Given the description of an element on the screen output the (x, y) to click on. 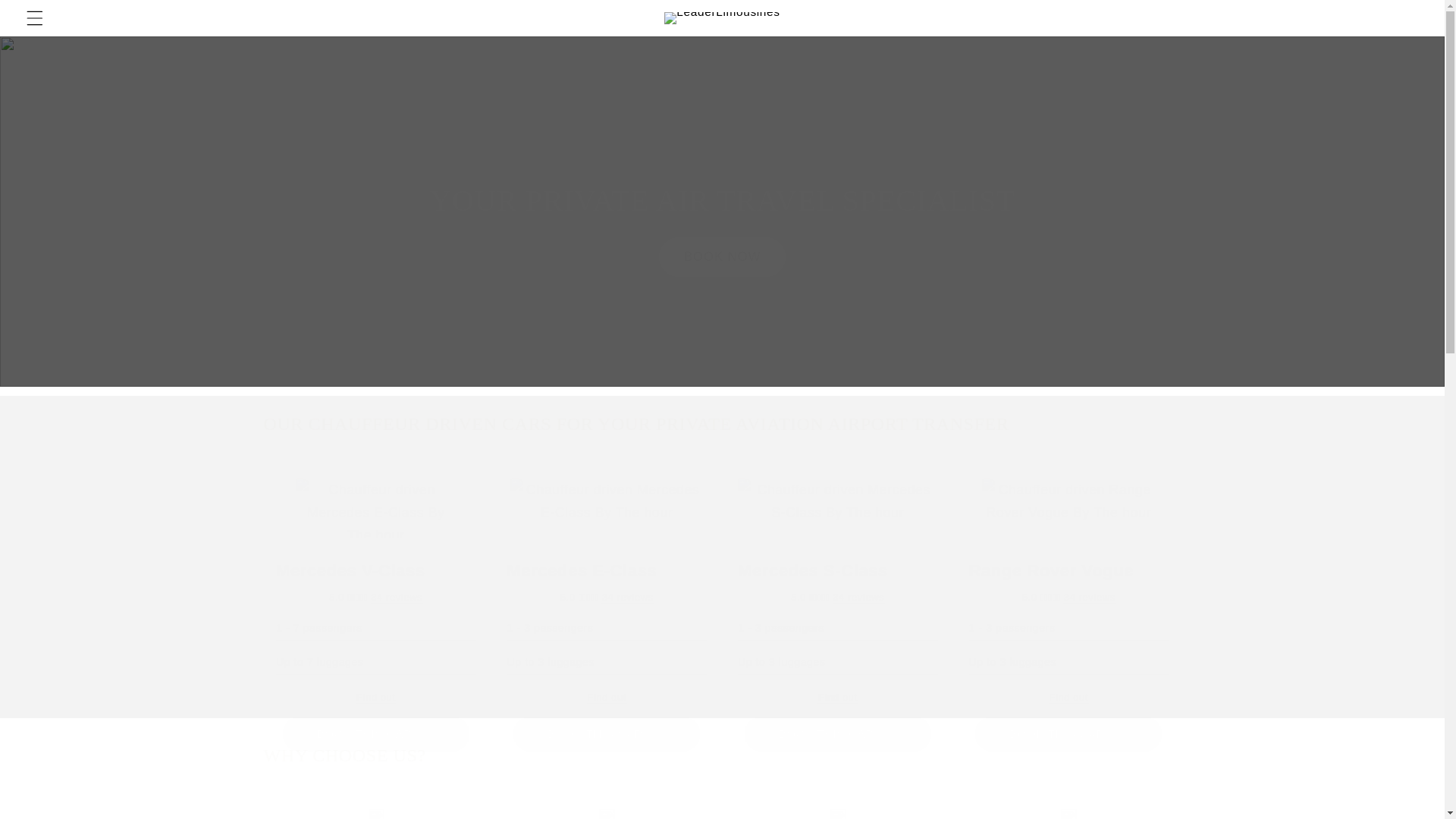
TESTIMONIALS (396, 596)
TESTIMONIALS (857, 596)
Skip to content (837, 696)
TESTIMONIALS (50, 19)
E CLASS (1089, 596)
E CLASS (1067, 696)
